Given the description of an element on the screen output the (x, y) to click on. 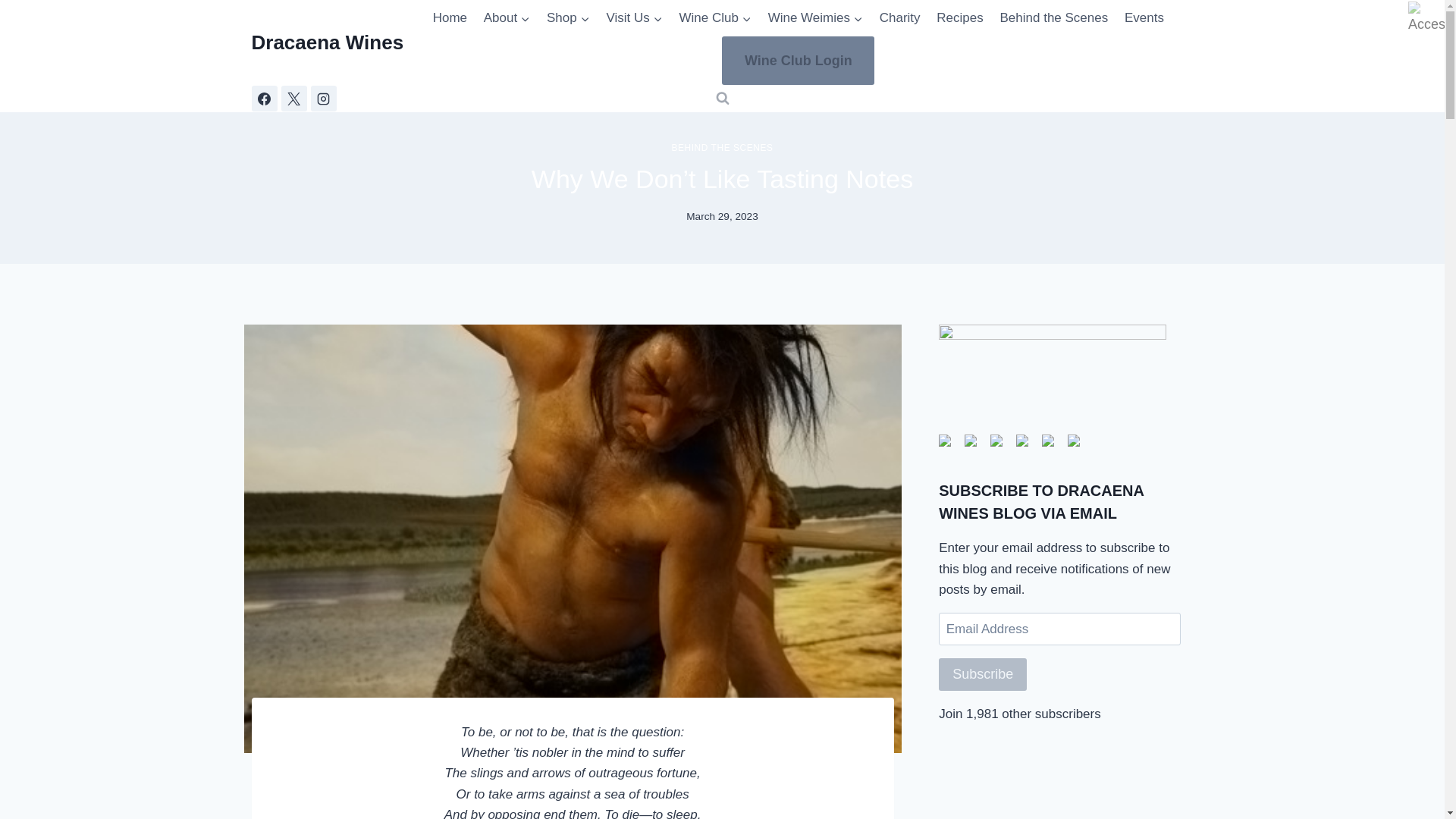
About (507, 18)
Our board on Pinterest (999, 443)
Find us on Linkedin (1024, 443)
Visit Us (634, 18)
Wine Club (715, 18)
Dracaena Wines (327, 42)
Our board on Pinterest (996, 440)
Follow us on Twitter (972, 443)
Follow us on Facebook (944, 440)
Wine Weimies (815, 18)
